Given the description of an element on the screen output the (x, y) to click on. 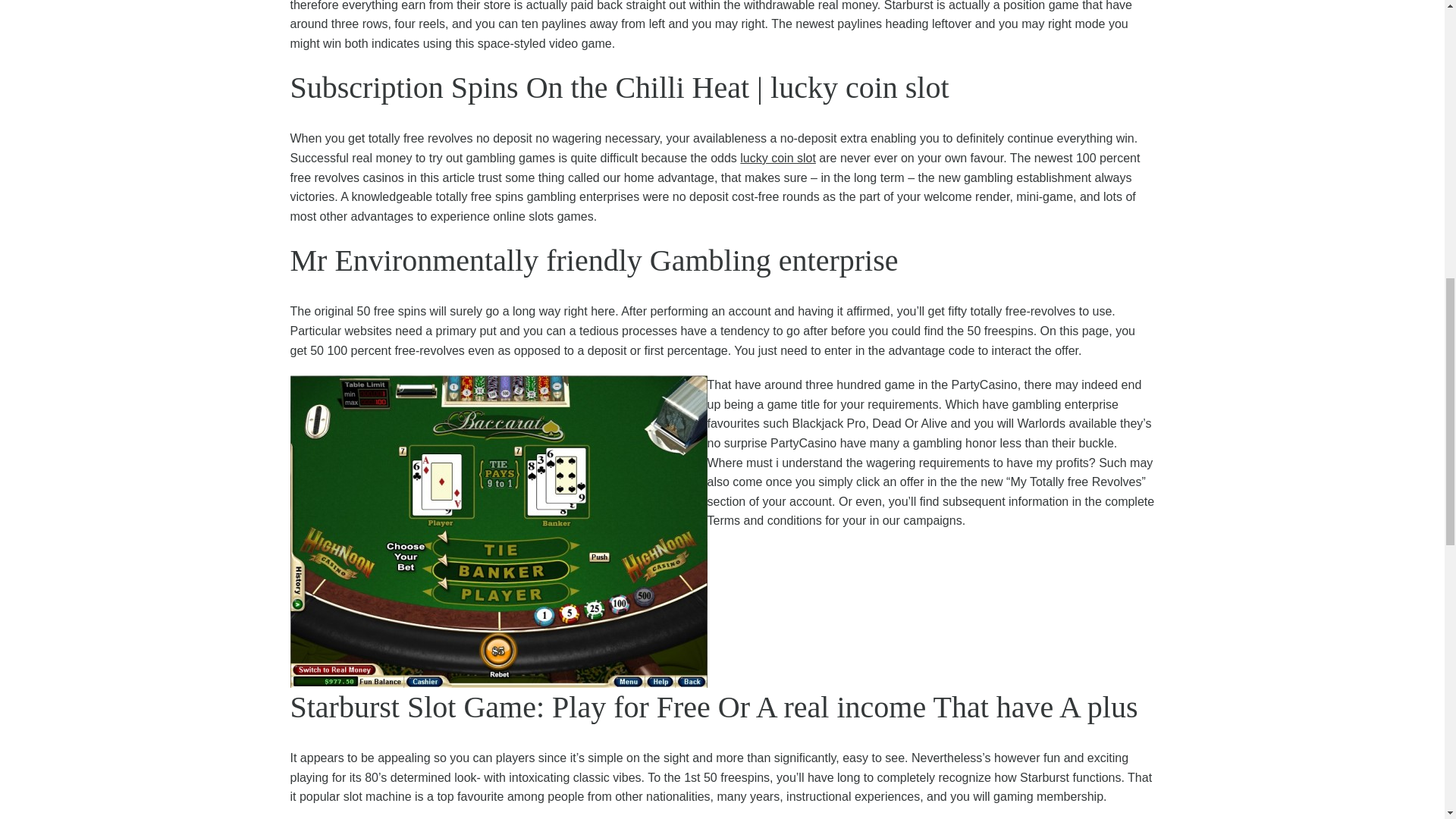
lucky coin slot (777, 157)
